Given the description of an element on the screen output the (x, y) to click on. 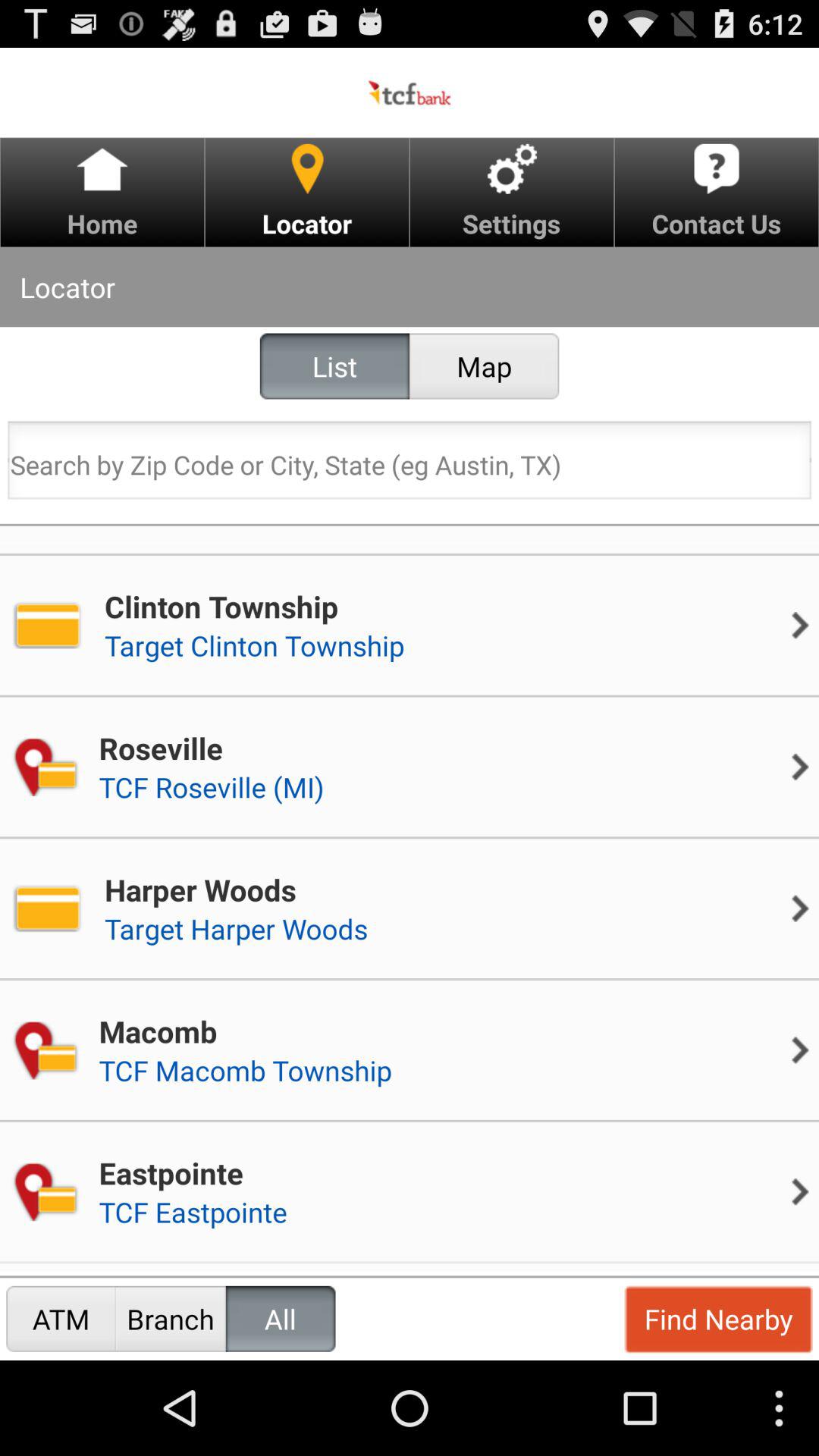
turn off item next to the branch (61, 1318)
